Given the description of an element on the screen output the (x, y) to click on. 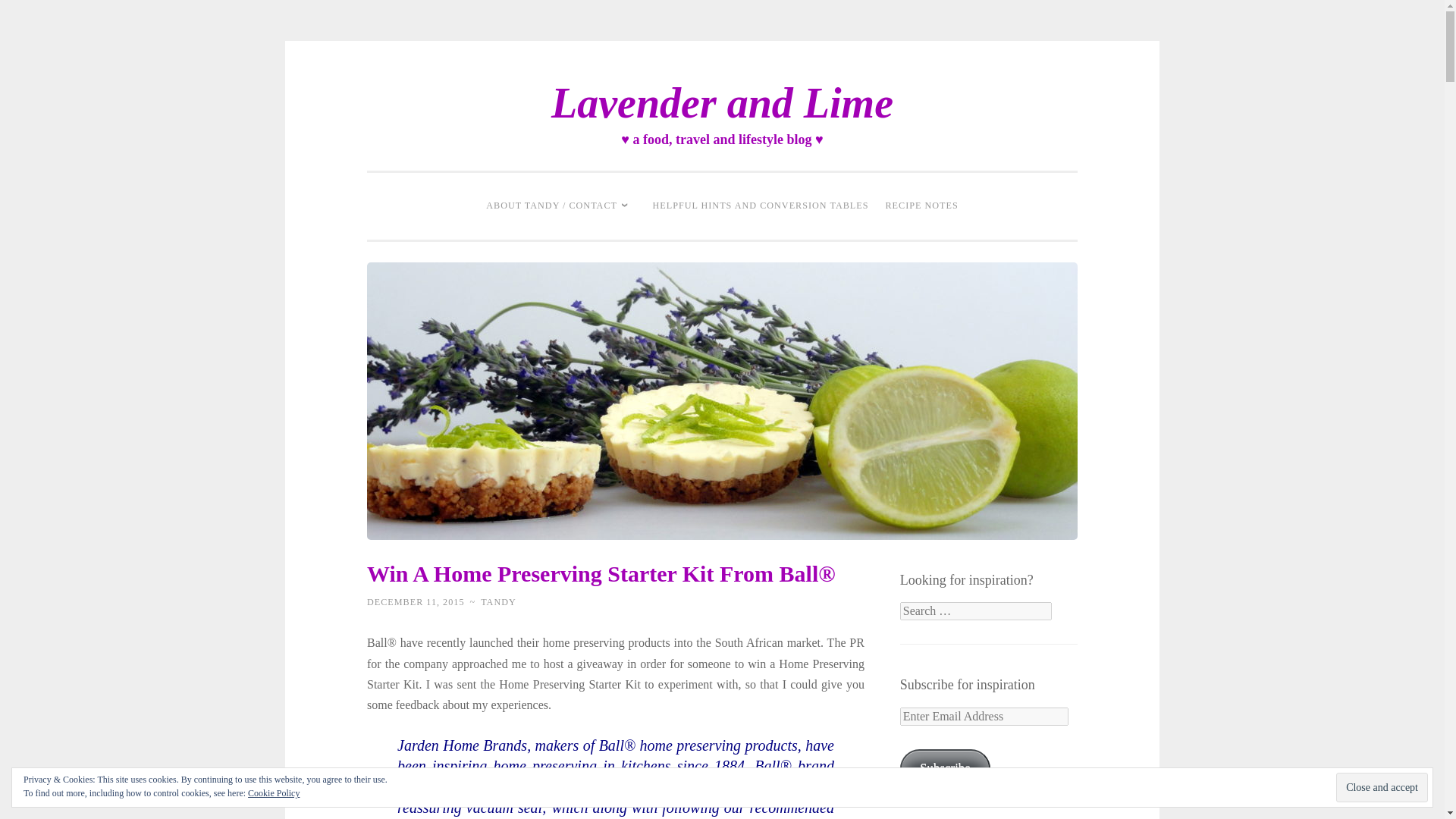
Lavender and Lime (722, 102)
Close and accept (1382, 787)
RECIPE NOTES (920, 205)
TANDY (498, 602)
DECEMBER 11, 2015 (415, 602)
HELPFUL HINTS AND CONVERSION TABLES (761, 205)
